Given the description of an element on the screen output the (x, y) to click on. 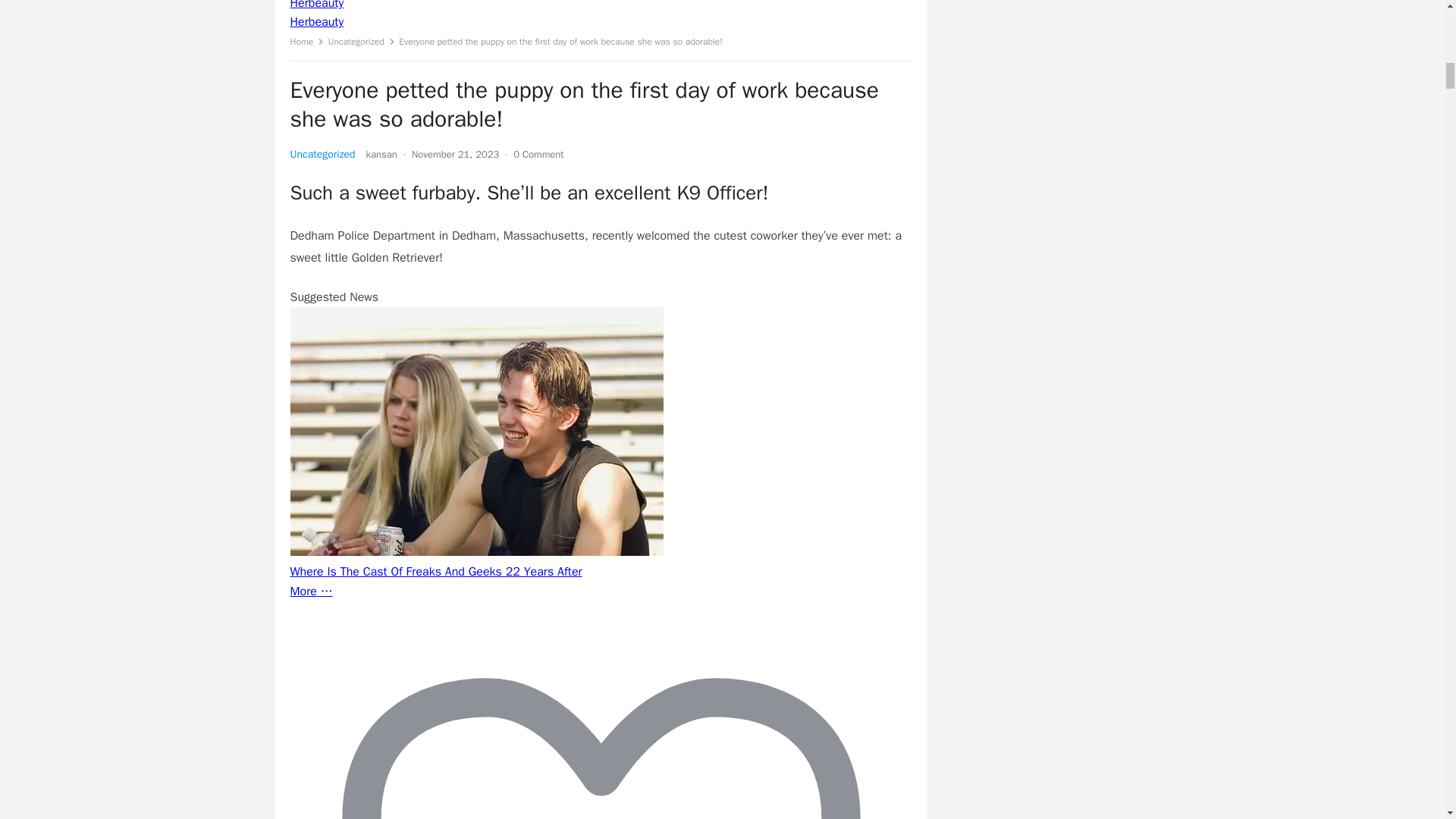
0 Comment (538, 154)
Uncategorized (322, 154)
Home (306, 41)
Uncategorized (361, 41)
kansan (381, 154)
